Given the description of an element on the screen output the (x, y) to click on. 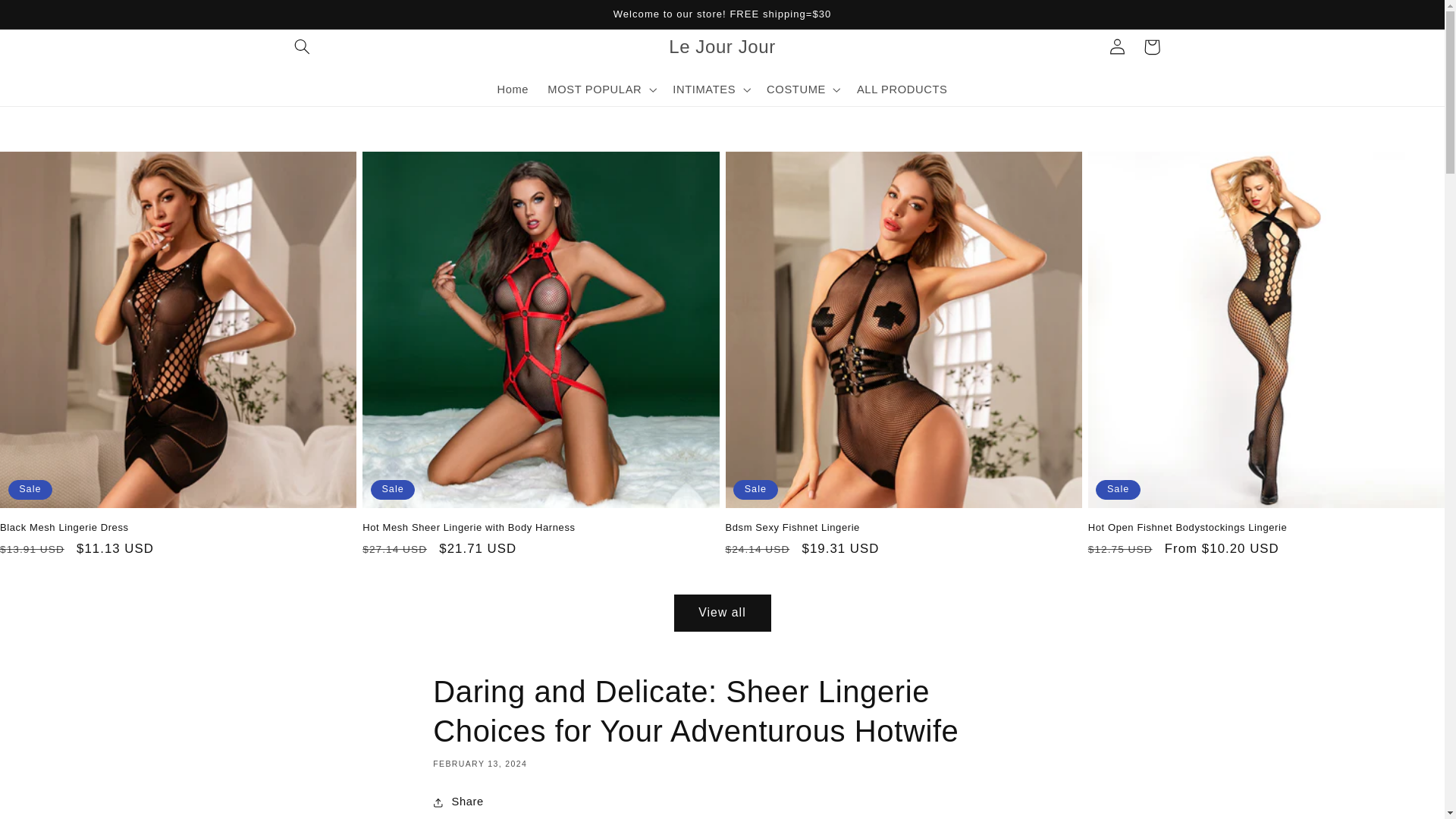
Skip to content (48, 18)
